Given the description of an element on the screen output the (x, y) to click on. 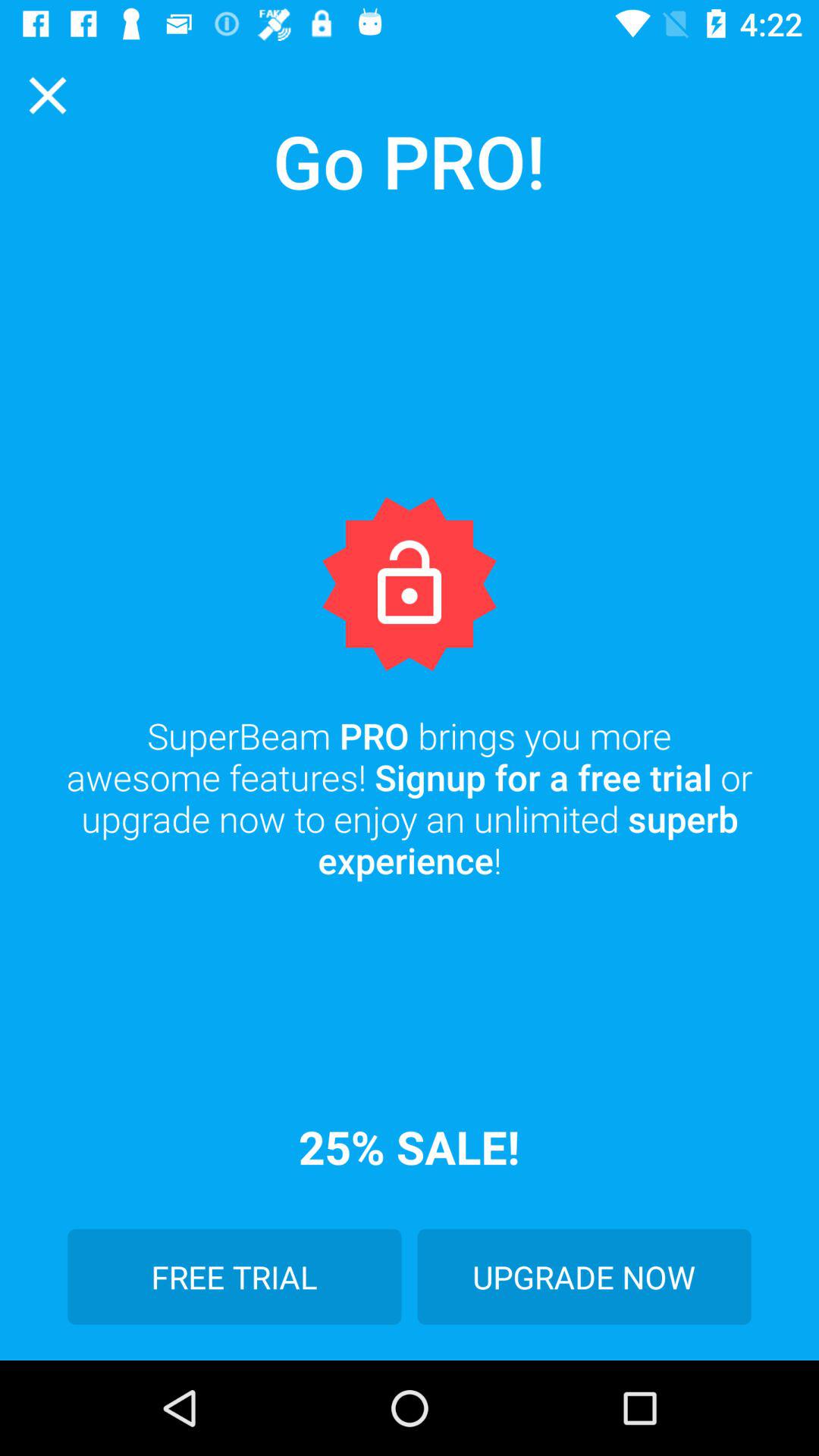
select item next to go pro! icon (47, 95)
